Given the description of an element on the screen output the (x, y) to click on. 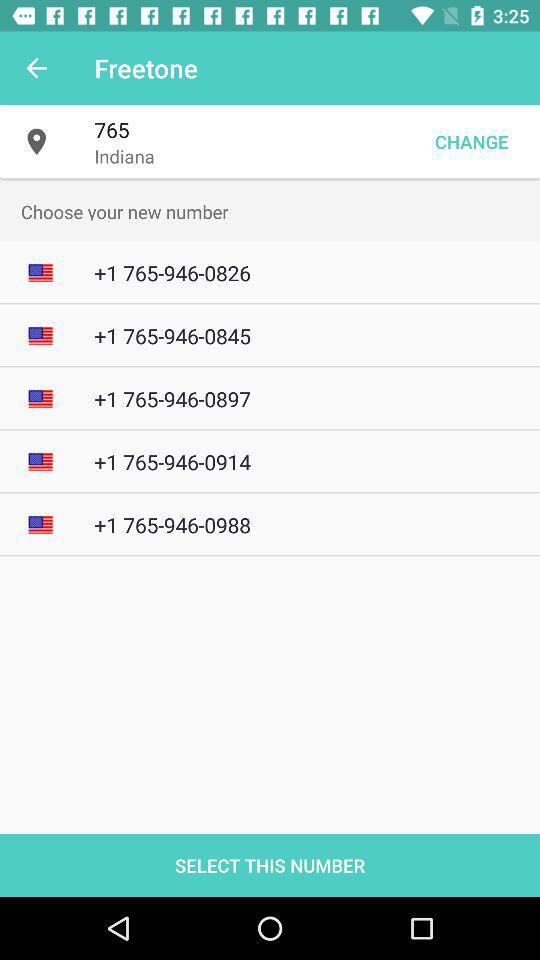
turn on app to the left of the freetone (36, 68)
